Given the description of an element on the screen output the (x, y) to click on. 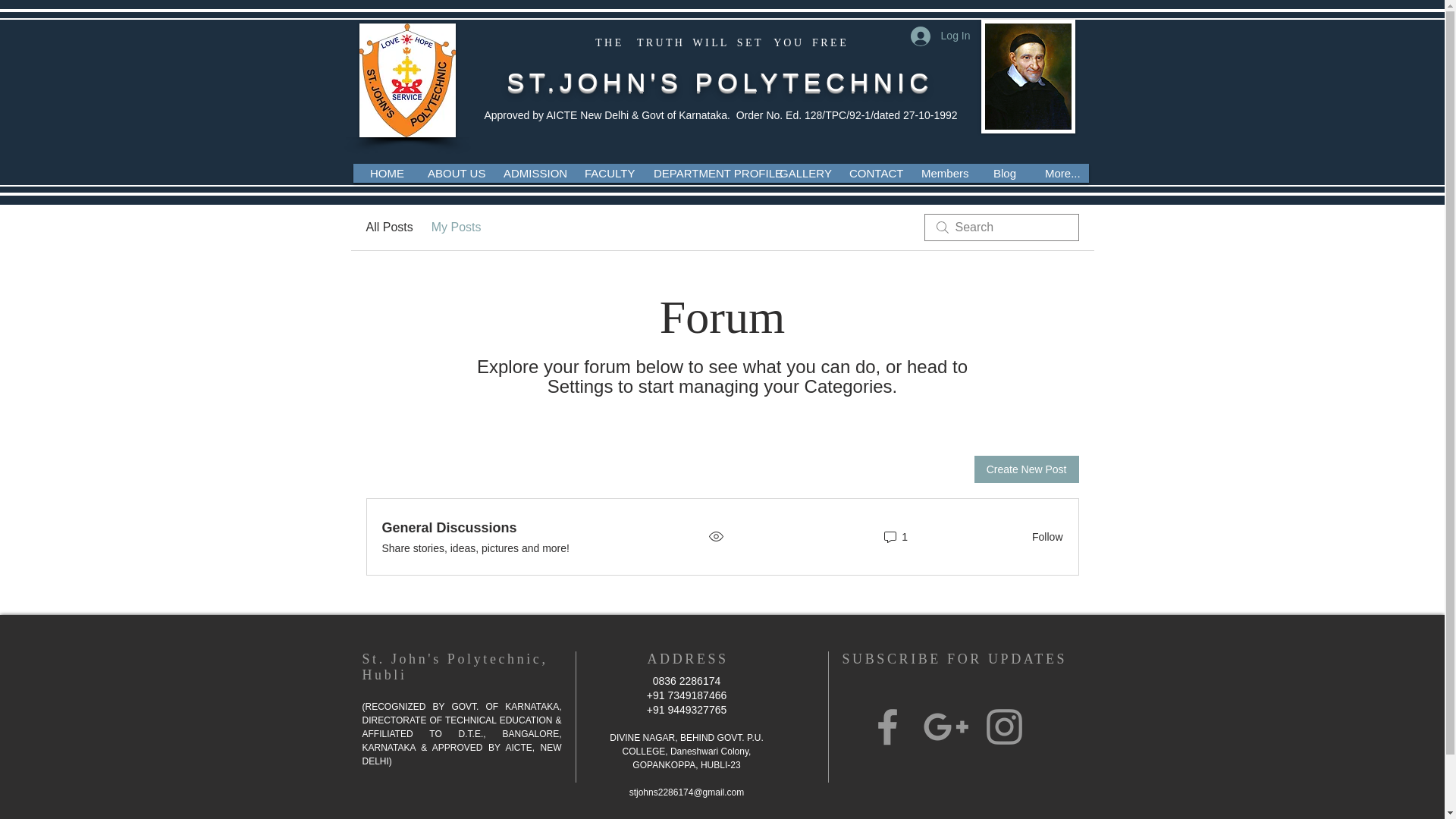
Follow (1042, 536)
ST.JOHN'S POLYTECHNIC (719, 81)
ADMISSION (528, 173)
FACULTY (604, 173)
All Posts (388, 227)
My Posts (455, 227)
Blog (1003, 173)
Log In (940, 35)
General Discussions (448, 526)
CONTACT (869, 173)
Create New Post (1026, 469)
Members (942, 173)
HOME (383, 173)
ABOUT US (449, 173)
DEPARTMENT PROFILE (700, 173)
